Given the description of an element on the screen output the (x, y) to click on. 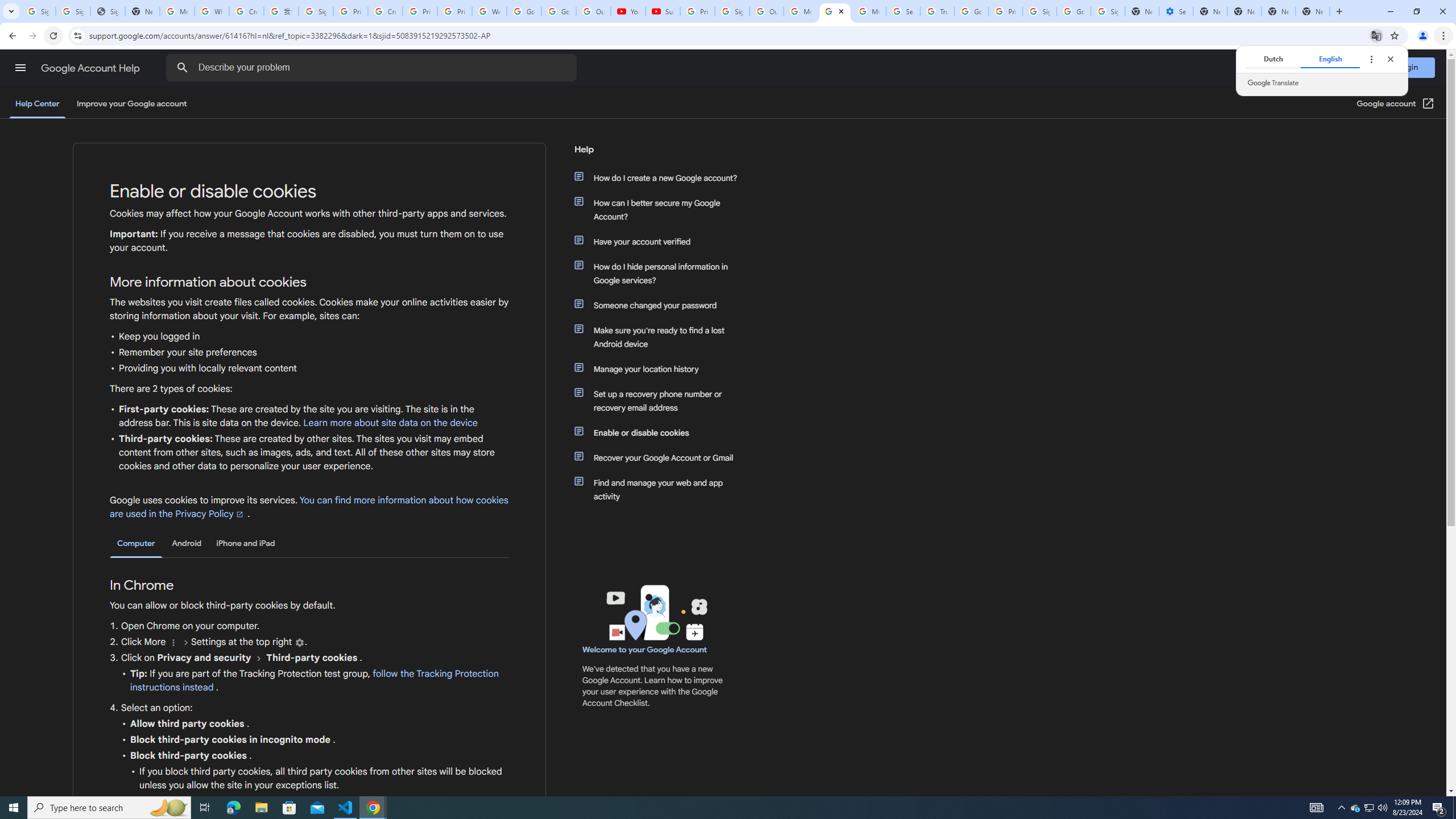
How do I hide personal information in Google services? (661, 273)
Subscriptions - YouTube (662, 11)
Enable or disable cookies (661, 432)
Settings - Performance (1176, 11)
Login (1407, 67)
More (173, 642)
Help Center (36, 103)
Google Account (Opens in new window) (1395, 103)
New Tab (1312, 11)
Google Account Help (91, 68)
